Given the description of an element on the screen output the (x, y) to click on. 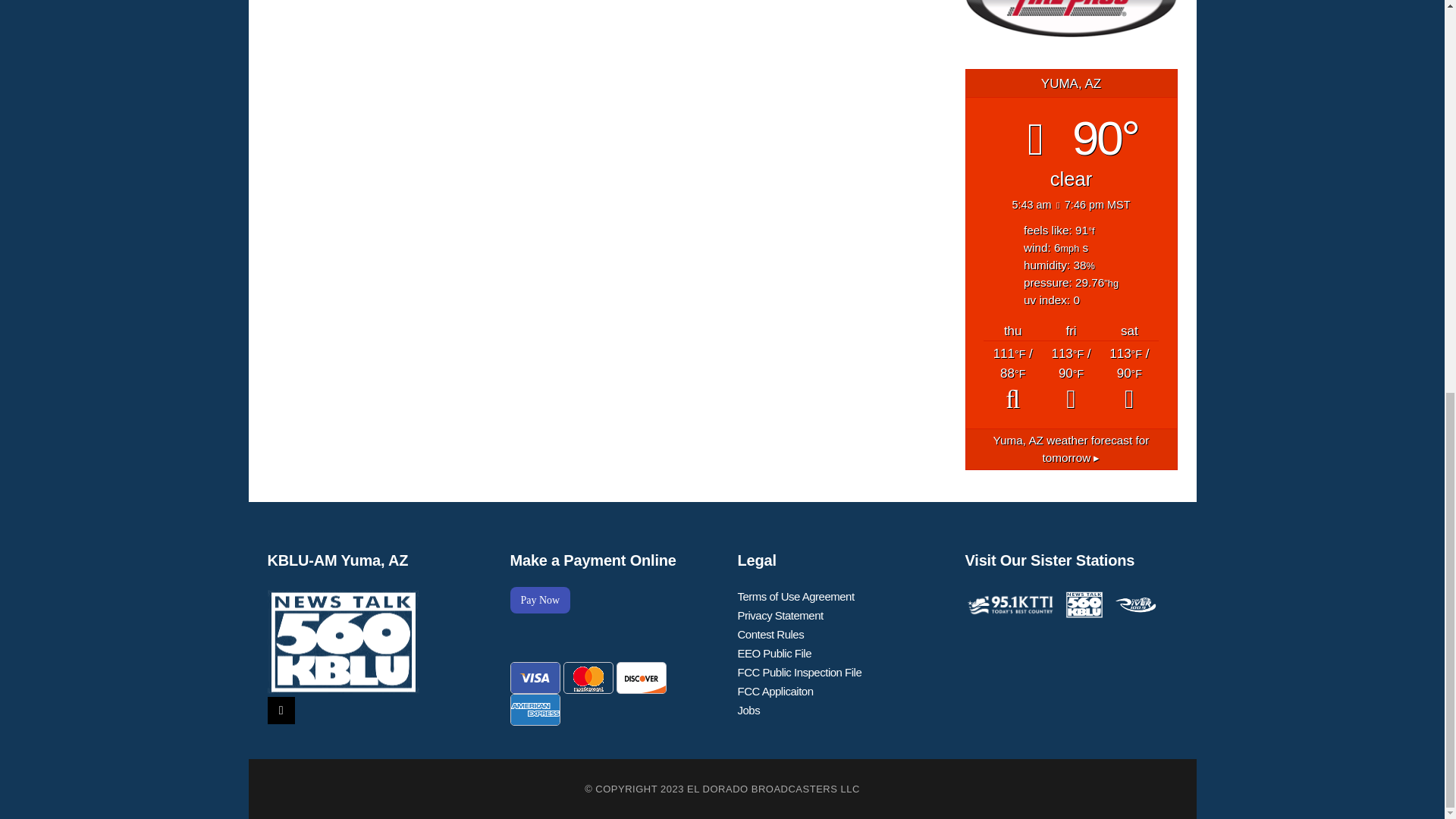
Mostly Sunny (1129, 379)
Mostly Sunny (1071, 379)
Yuma, AZ - Weather forecast for tomorrow (1071, 449)
Partly Cloudy (1013, 379)
